Given the description of an element on the screen output the (x, y) to click on. 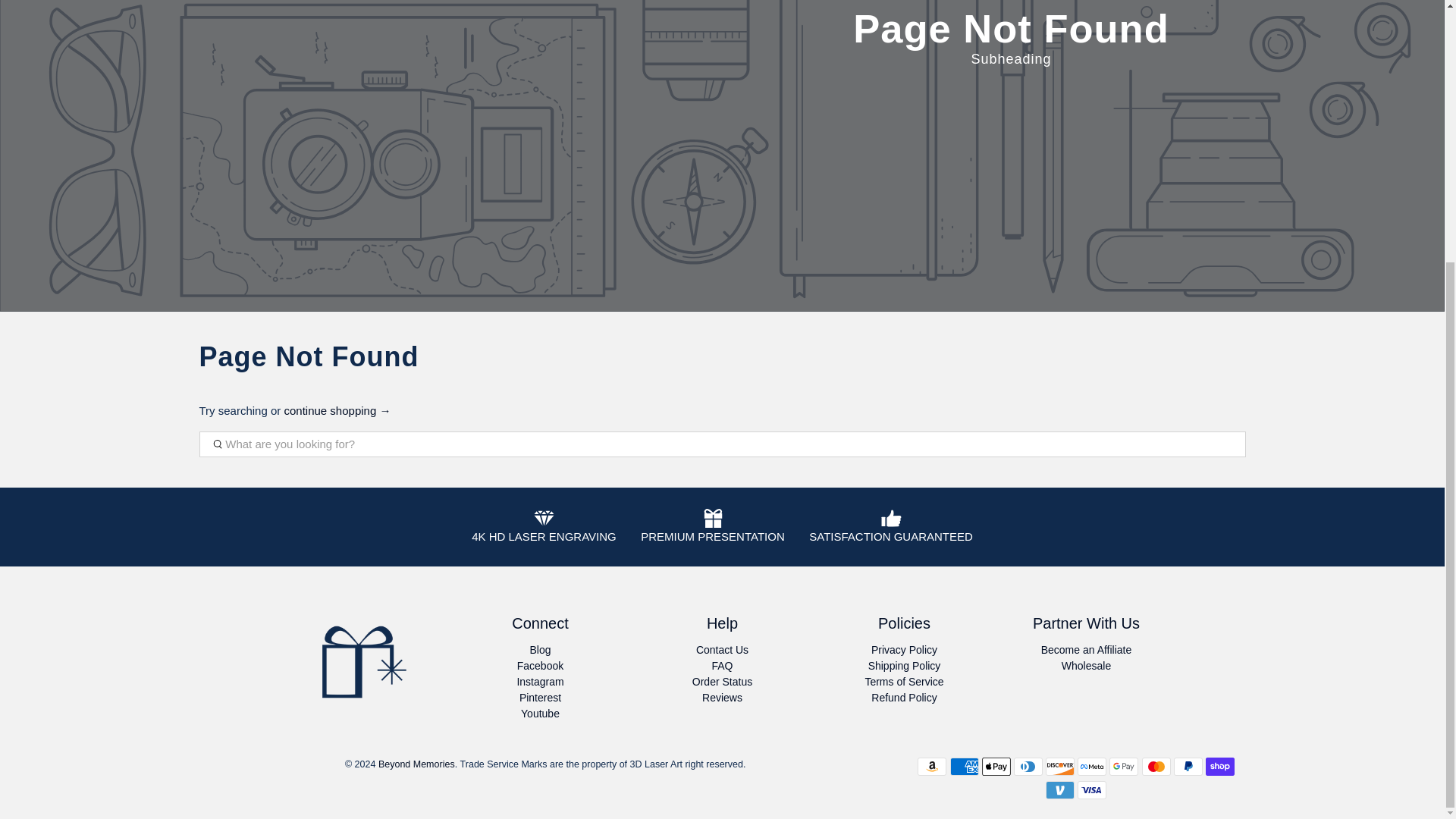
Amazon (931, 766)
Meta Pay (1091, 766)
Discover (1059, 766)
Mastercard (1155, 766)
Apple Pay (995, 766)
American Express (964, 766)
Google Pay (1123, 766)
Diners Club (1027, 766)
